Given the description of an element on the screen output the (x, y) to click on. 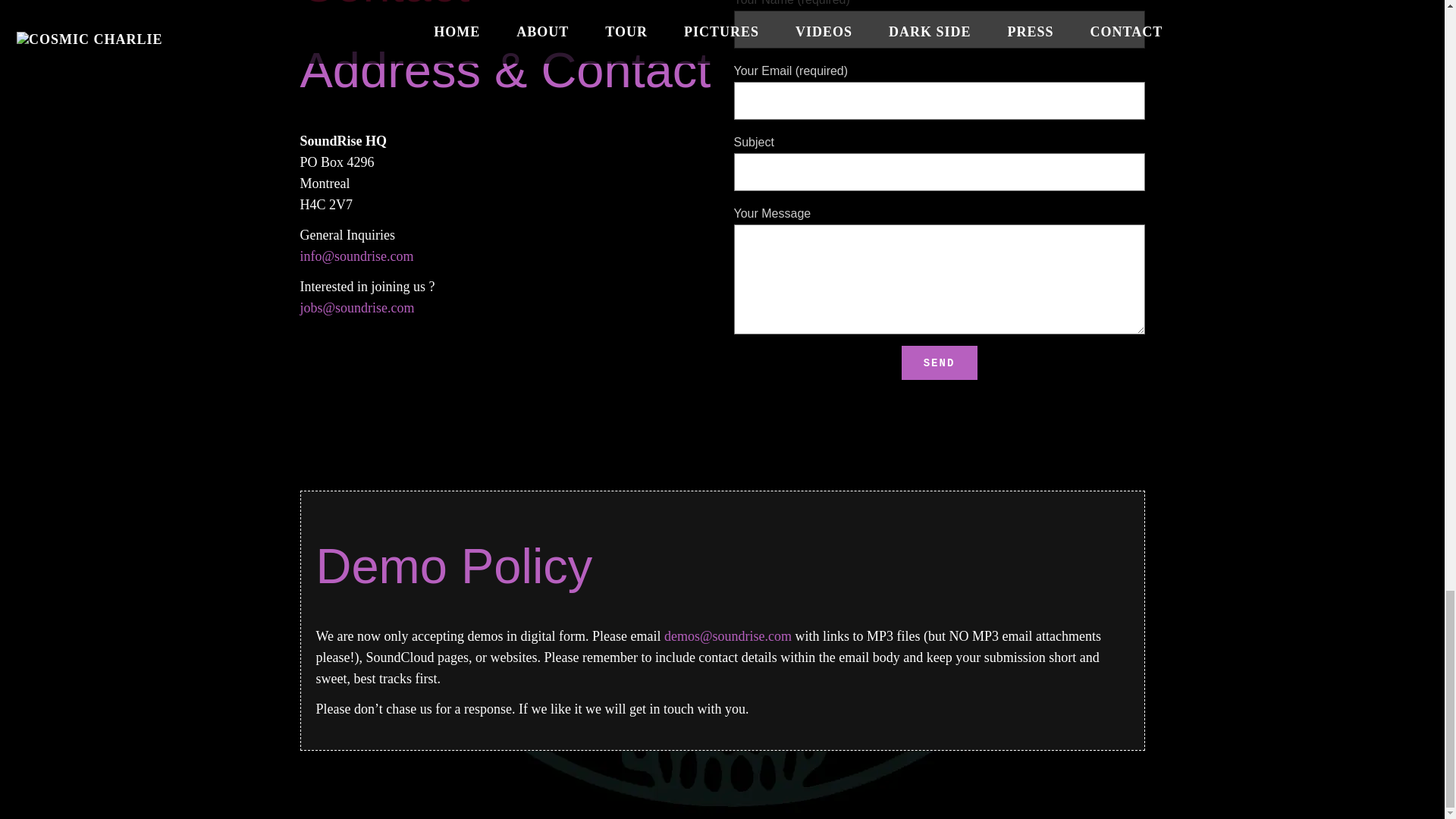
Send (938, 362)
Send (938, 362)
